Given the description of an element on the screen output the (x, y) to click on. 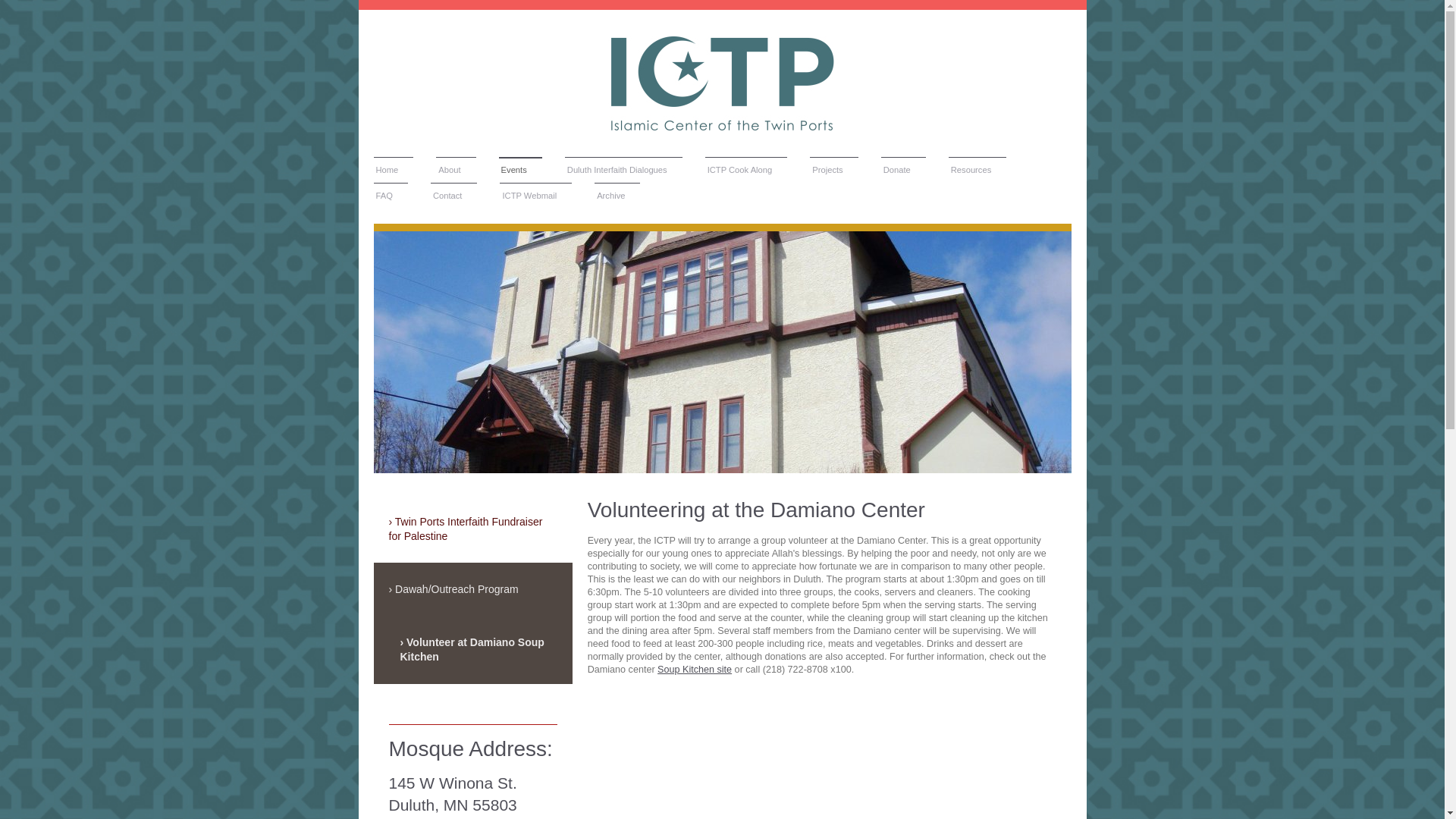
Duluth Interfaith Dialogues (623, 169)
ICTP Cook Along (745, 169)
ICTP Webmail (535, 195)
Events (520, 169)
Contact (453, 195)
Soup Kitchen site (695, 669)
Archive (617, 195)
Donate (903, 169)
Home (392, 169)
About (455, 169)
FAQ (389, 195)
Projects (833, 169)
Resources (977, 169)
